Given the description of an element on the screen output the (x, y) to click on. 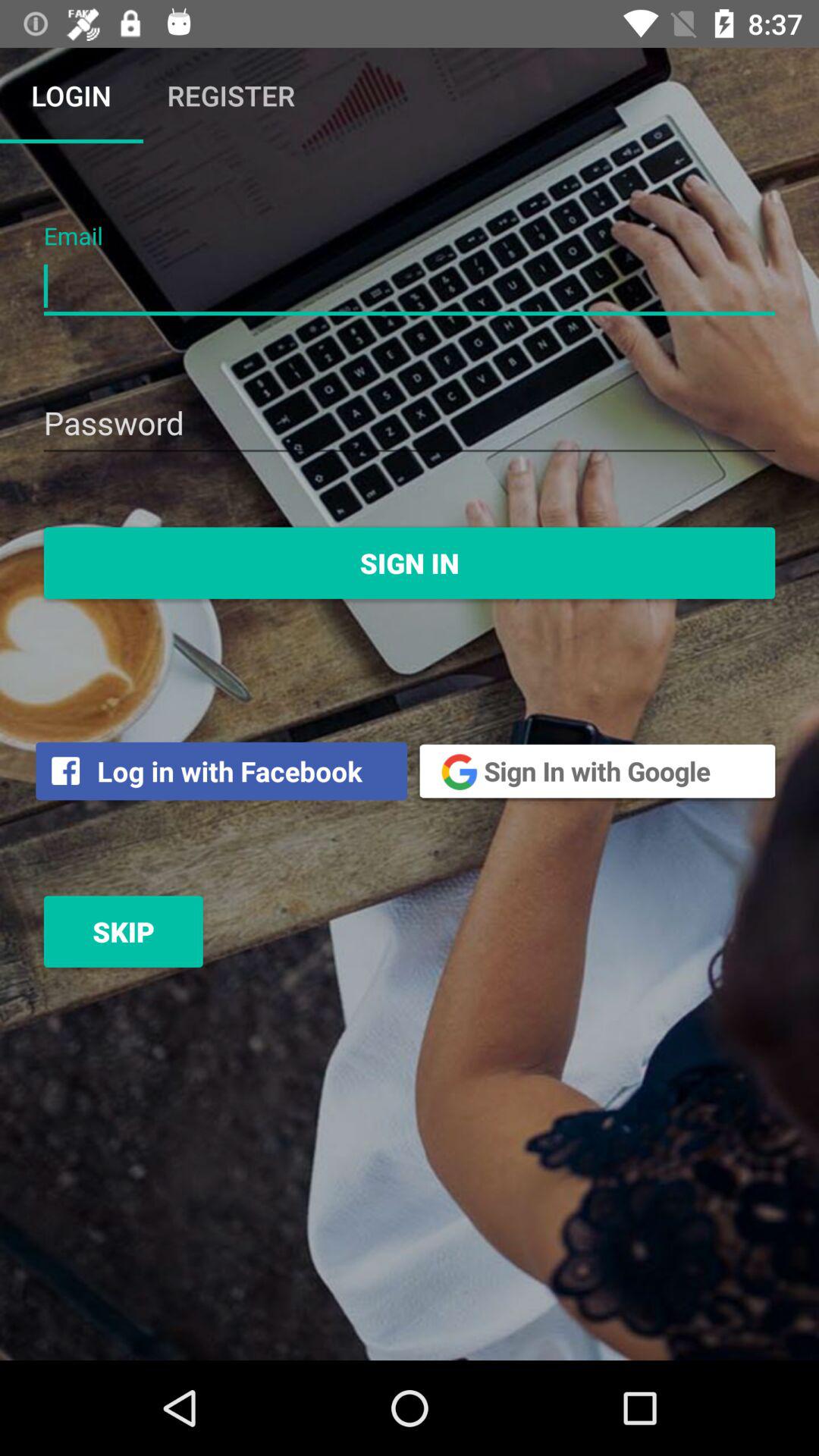
field to put email address (409, 286)
